Given the description of an element on the screen output the (x, y) to click on. 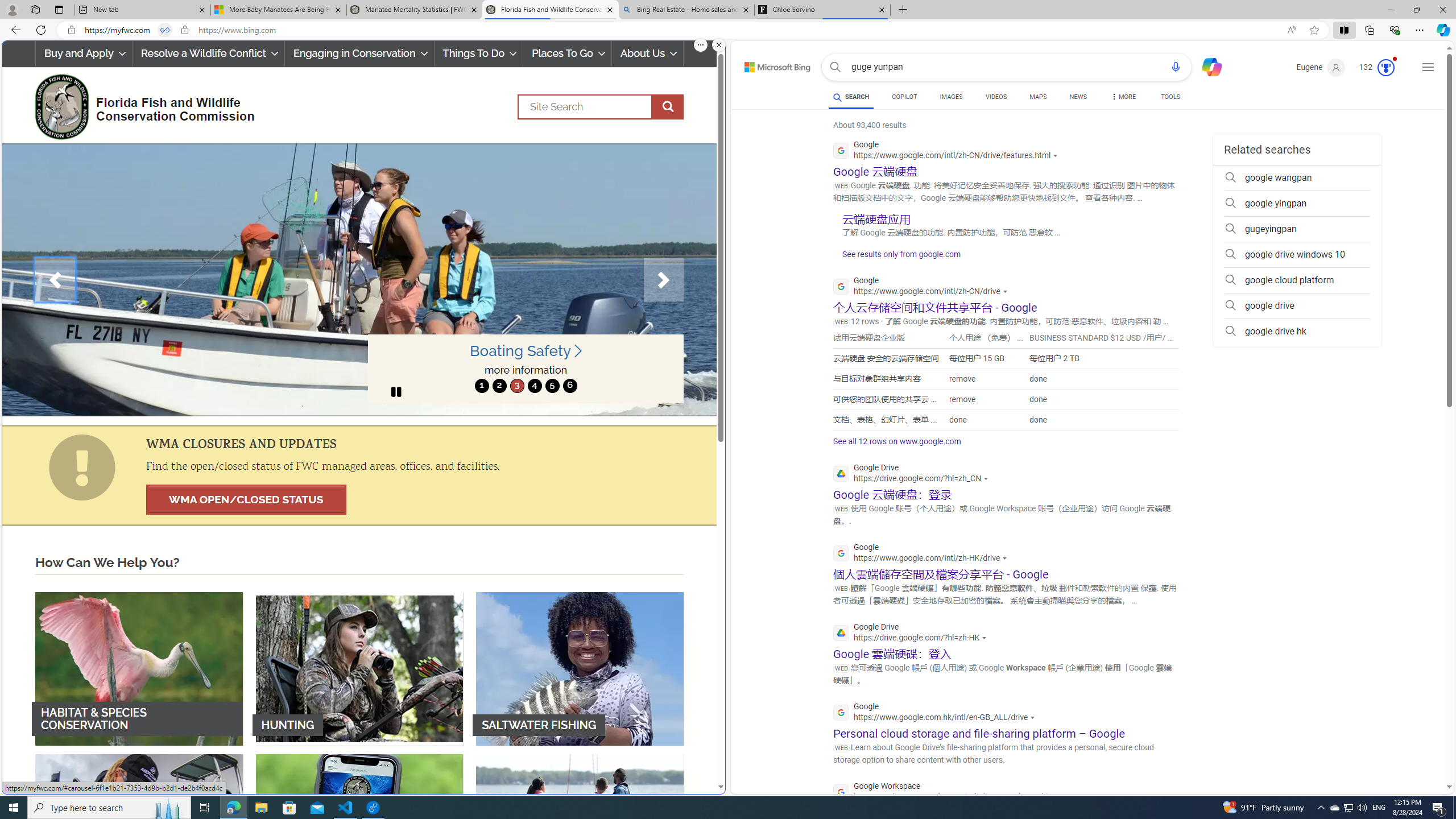
google wangpan (1297, 177)
AutomationID: mfa_root (1406, 752)
Back to Bing search (770, 64)
Add this page to favorites (Ctrl+D) (1314, 29)
Close split screen. (719, 45)
Actions for this site (1061, 797)
google drive windows 10 (1297, 254)
Tabs in split screen (164, 29)
Next (663, 279)
move to slide 3 (516, 385)
Split screen (1344, 29)
VIDEOS (995, 96)
Google Drive (912, 634)
Read aloud this page (Ctrl+Shift+U) (1291, 29)
COPILOT (903, 98)
